Given the description of an element on the screen output the (x, y) to click on. 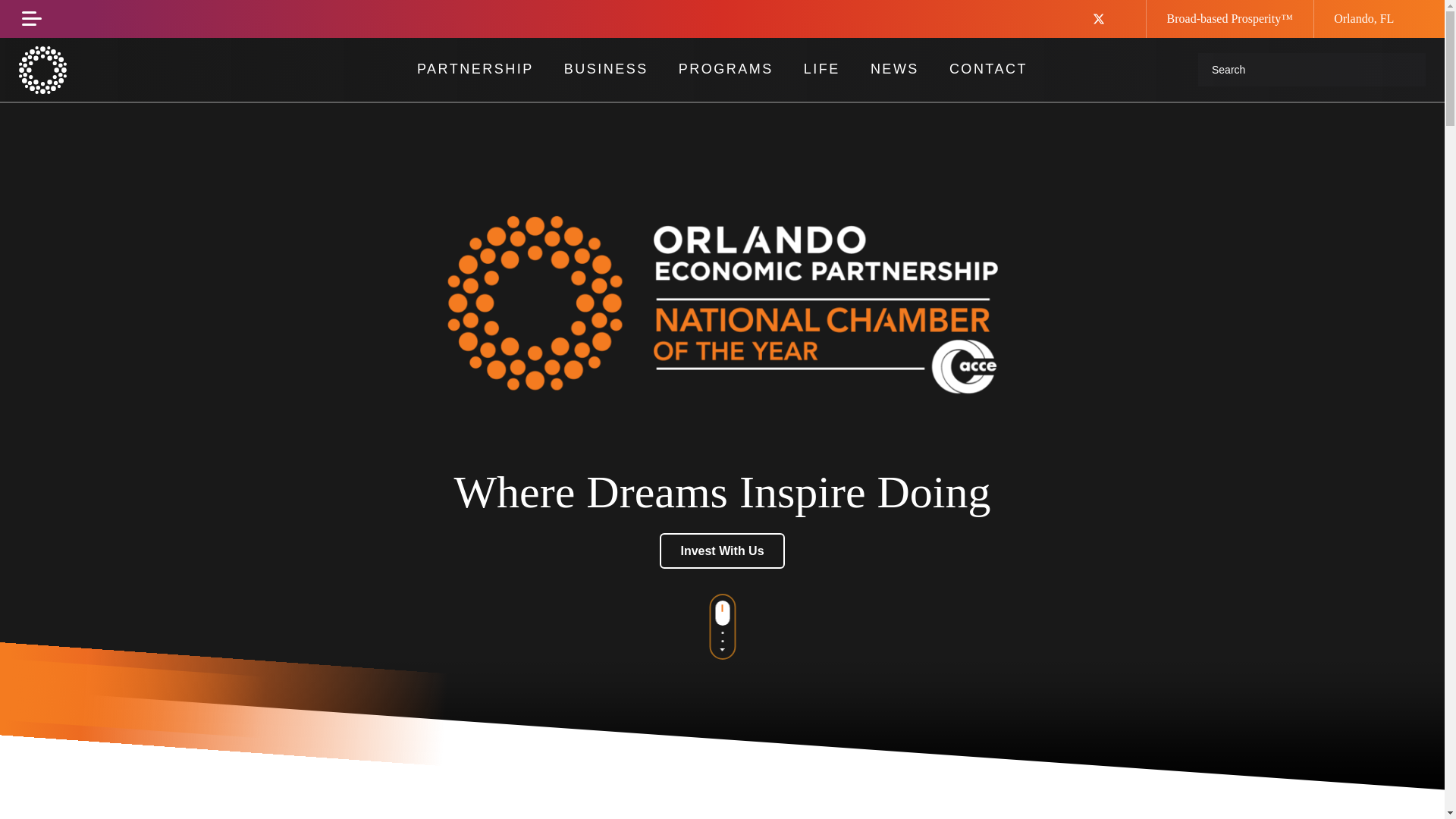
PARTNERSHIP (474, 69)
BUSINESS (605, 69)
Submit Search (1406, 69)
TWITTER (1109, 19)
Scroll to see more about Orlando (721, 619)
